Given the description of an element on the screen output the (x, y) to click on. 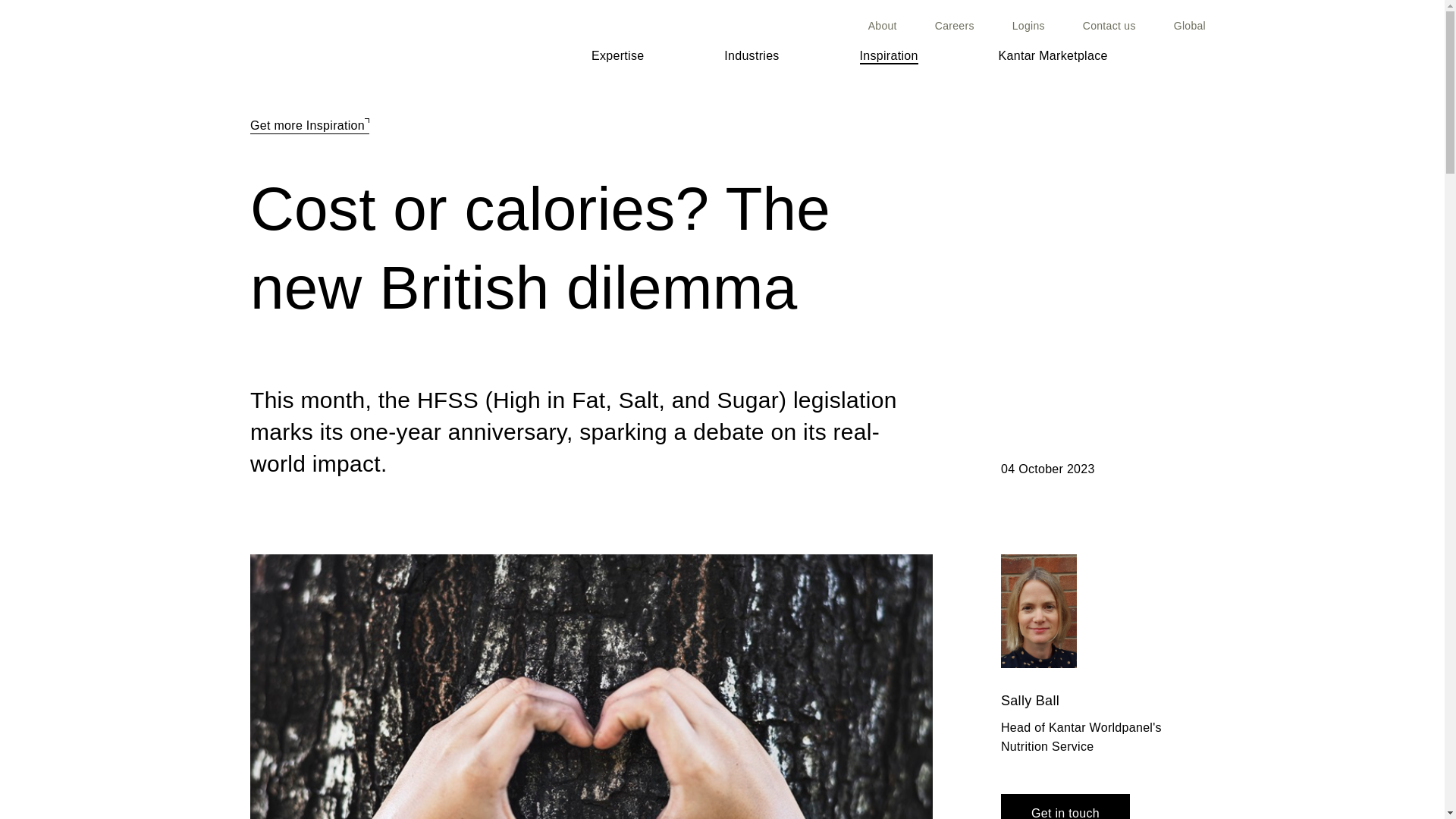
Inspiration (888, 55)
Expertise (617, 86)
Logins (1028, 25)
Contact us (1109, 25)
About (881, 25)
Search (1198, 54)
Industries (751, 62)
Careers (954, 25)
Kantar Marketplace (1053, 55)
